Given the description of an element on the screen output the (x, y) to click on. 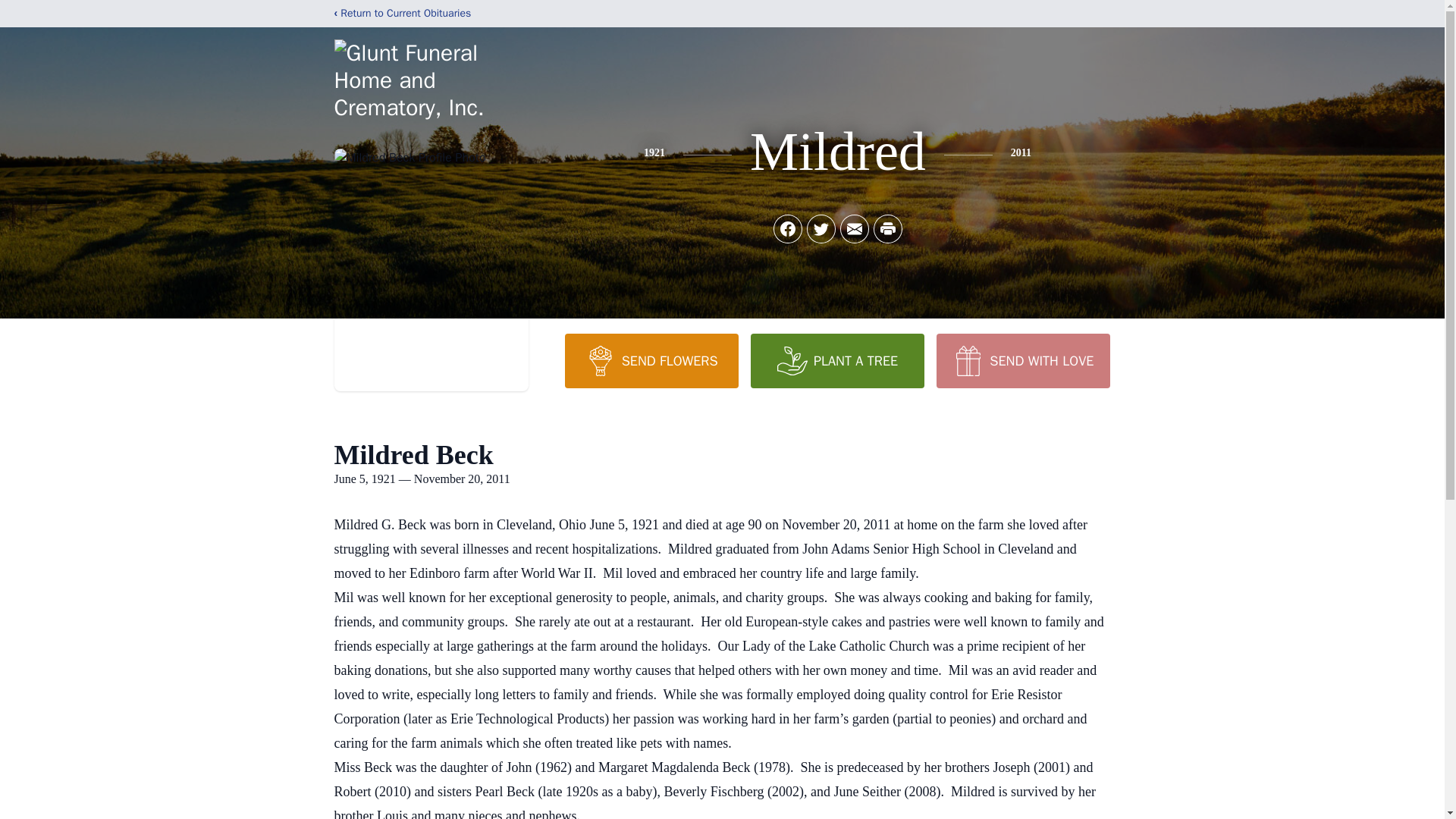
SEND WITH LOVE (1022, 360)
SEND FLOWERS (651, 360)
PLANT A TREE (837, 360)
